Given the description of an element on the screen output the (x, y) to click on. 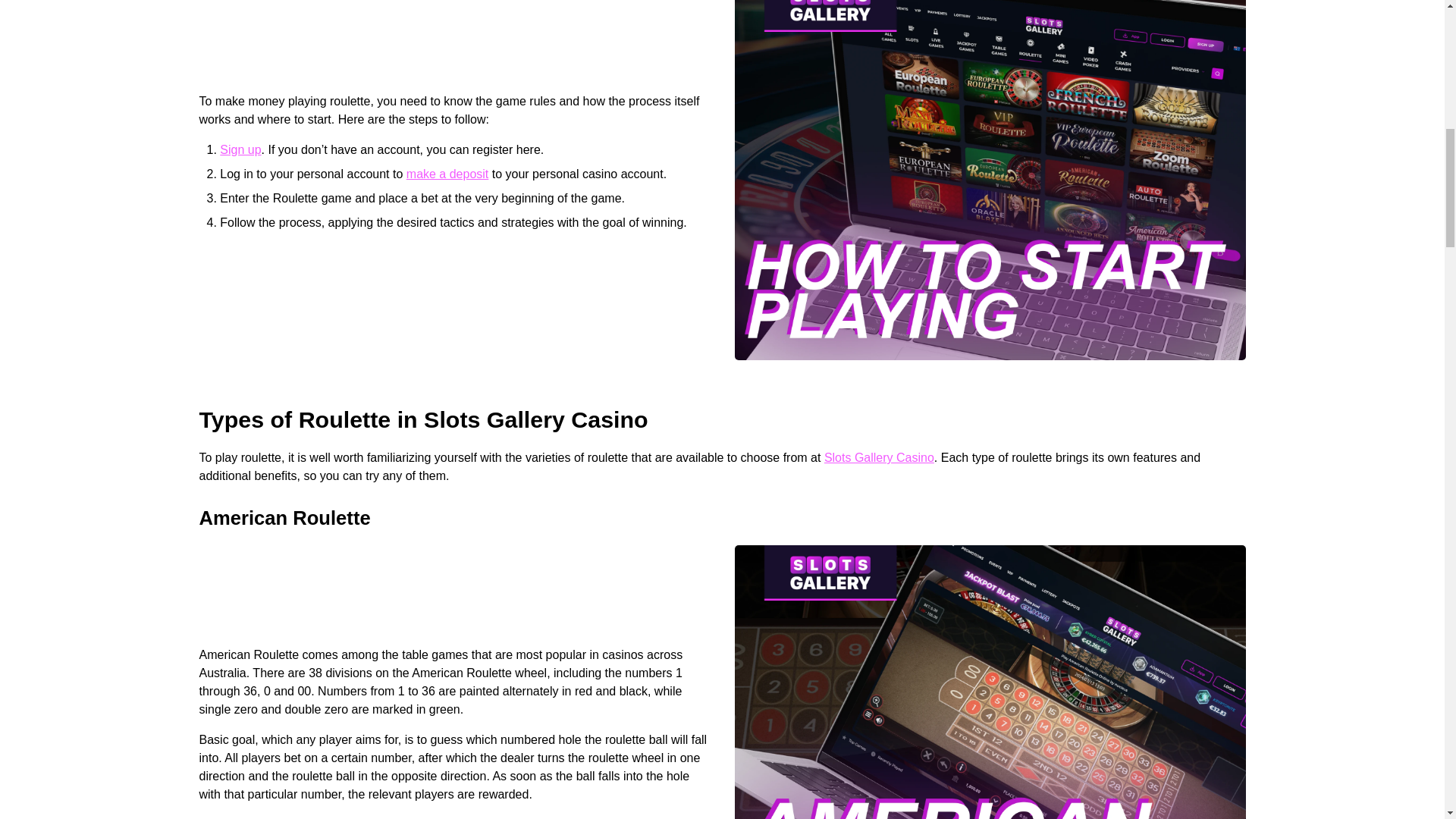
Sign up (239, 149)
Slots Gallery Casino (879, 457)
make a deposit (447, 173)
